Given the description of an element on the screen output the (x, y) to click on. 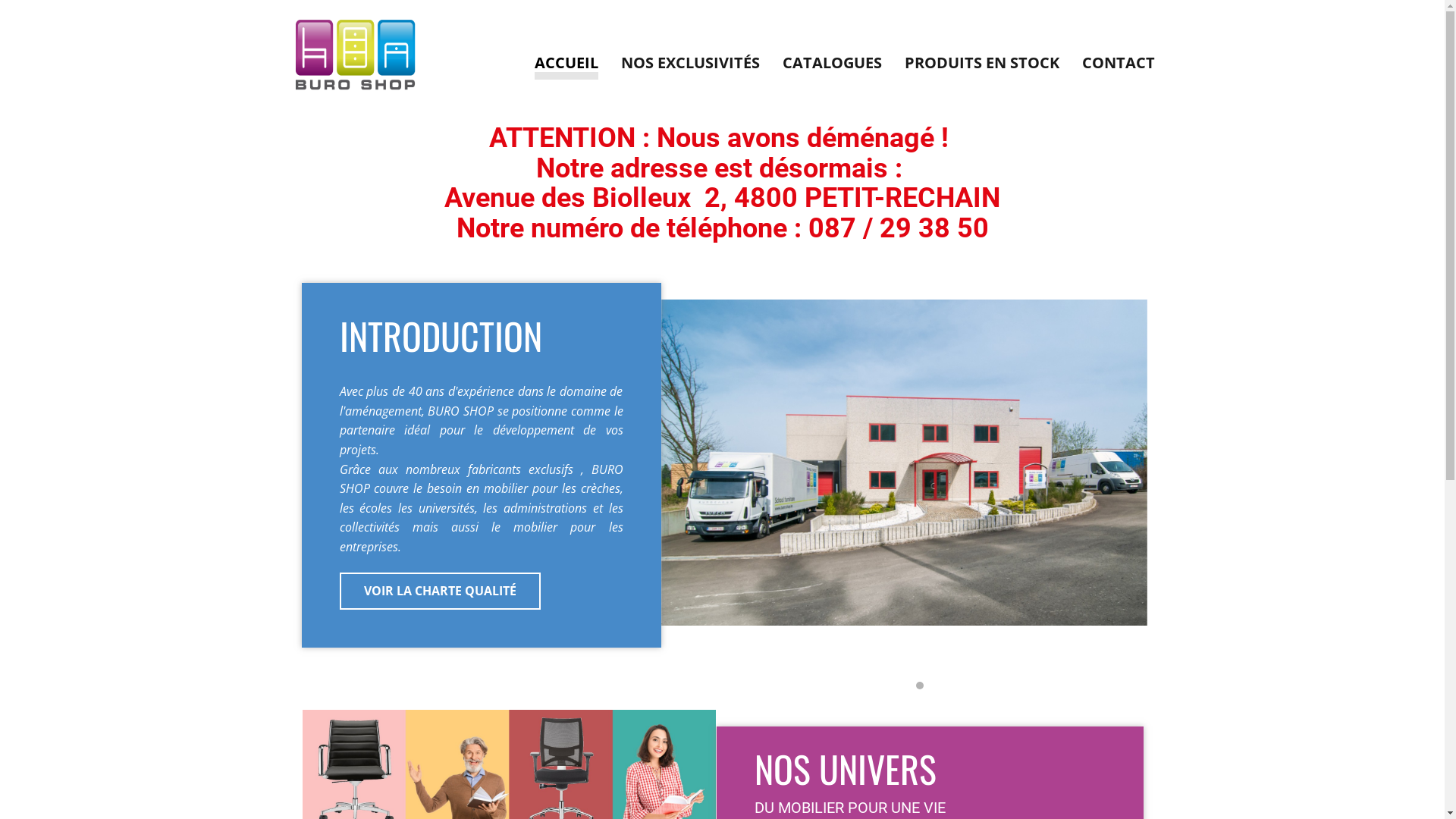
CATALOGUES Element type: text (831, 66)
CONTACT Element type: text (1117, 66)
ACCUEIL Element type: text (565, 66)
PRODUITS EN STOCK Element type: text (980, 66)
